Given the description of an element on the screen output the (x, y) to click on. 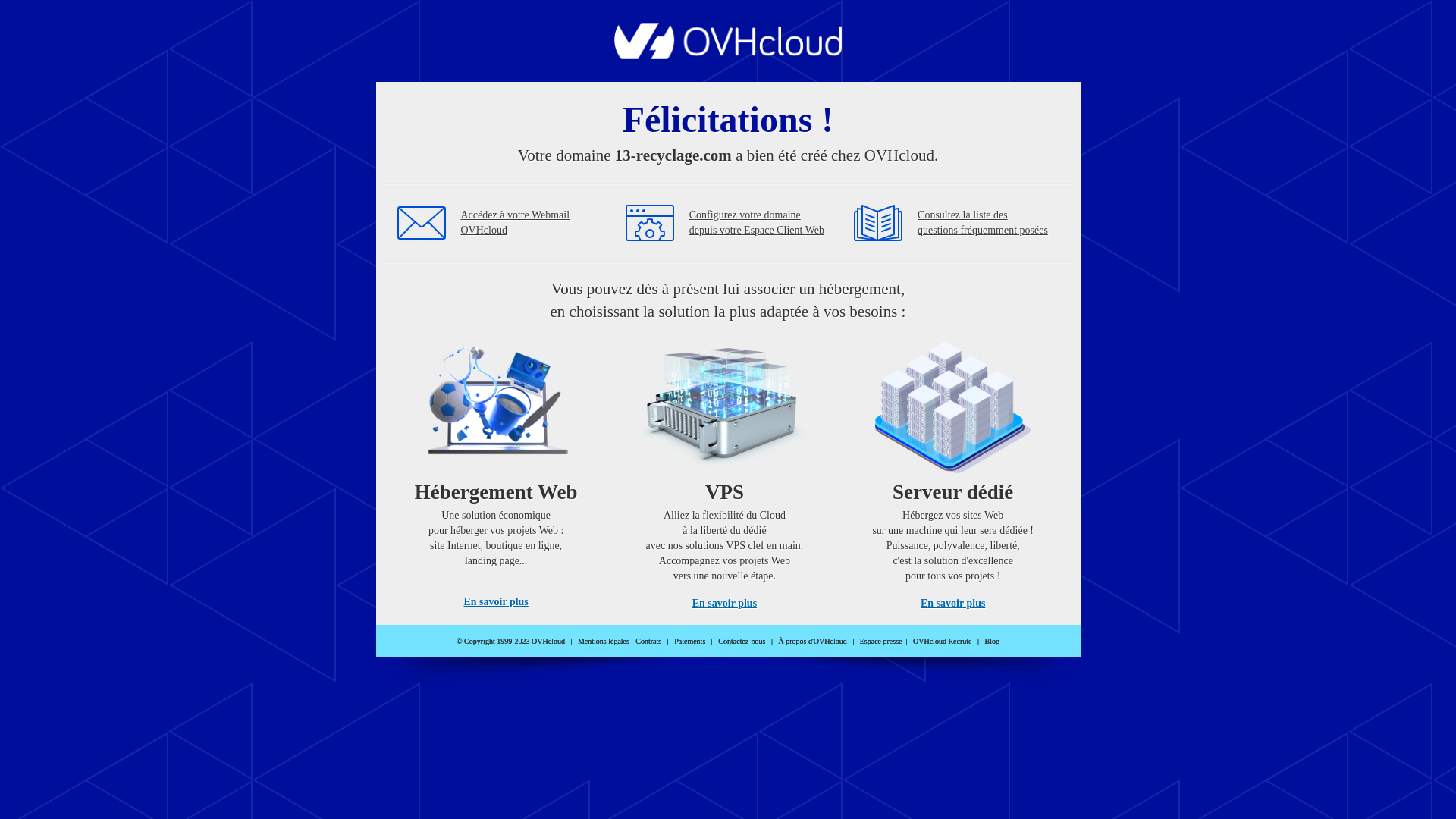
Contactez-nous Element type: text (741, 641)
En savoir plus Element type: text (495, 601)
VPS Element type: hover (724, 469)
Configurez votre domaine
depuis votre Espace Client Web Element type: text (756, 222)
OVHcloud Element type: hover (727, 54)
OVHcloud Recrute Element type: text (942, 641)
Espace presse Element type: text (880, 641)
Blog Element type: text (992, 641)
Paiements Element type: text (689, 641)
En savoir plus Element type: text (952, 602)
En savoir plus Element type: text (724, 602)
